Given the description of an element on the screen output the (x, y) to click on. 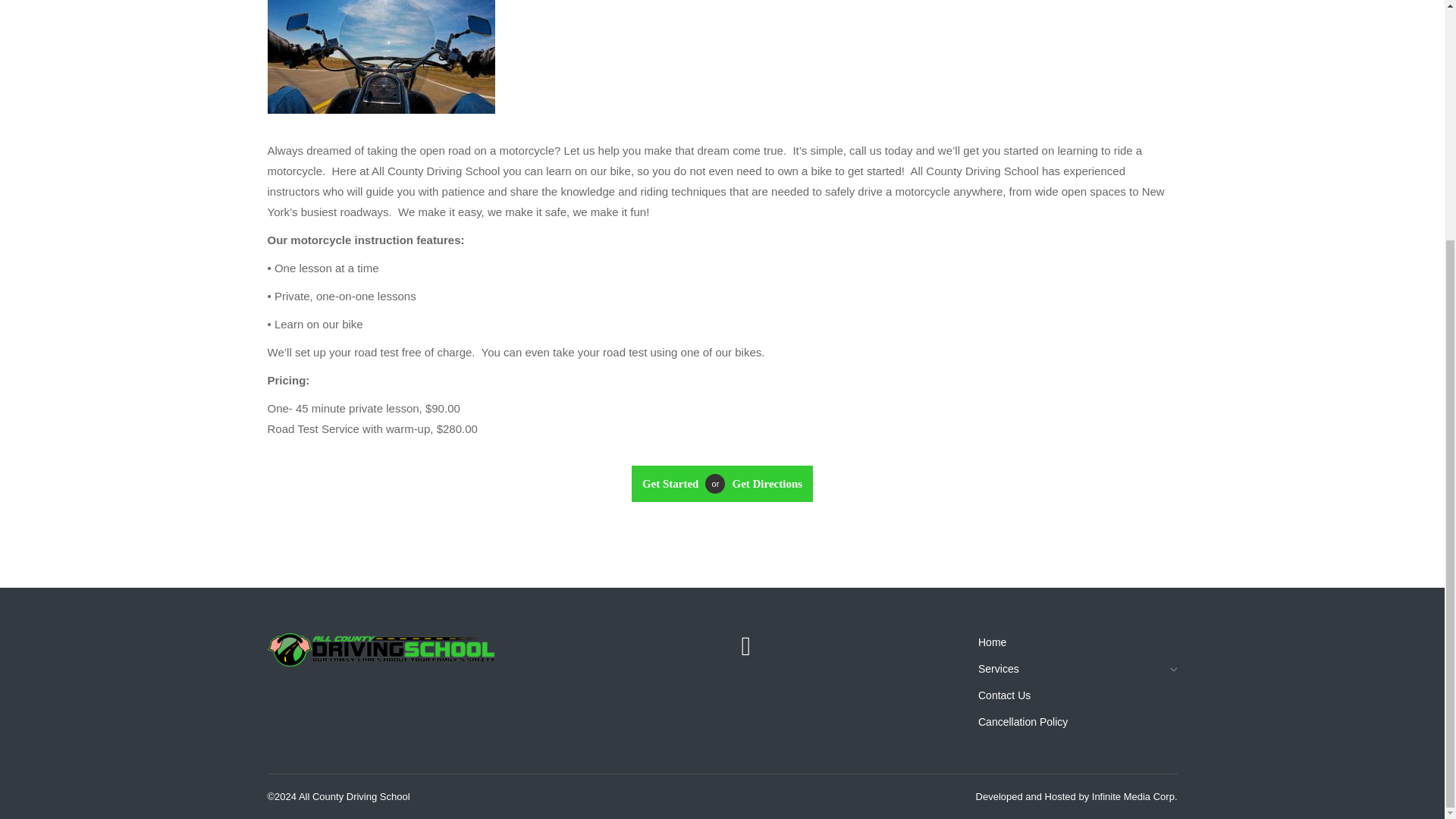
Contact Us (763, 484)
Services (1077, 673)
Get Directions (763, 484)
Get Started (672, 484)
motorcycle-visor (380, 56)
Home (1077, 646)
Contact Us (672, 484)
